Given the description of an element on the screen output the (x, y) to click on. 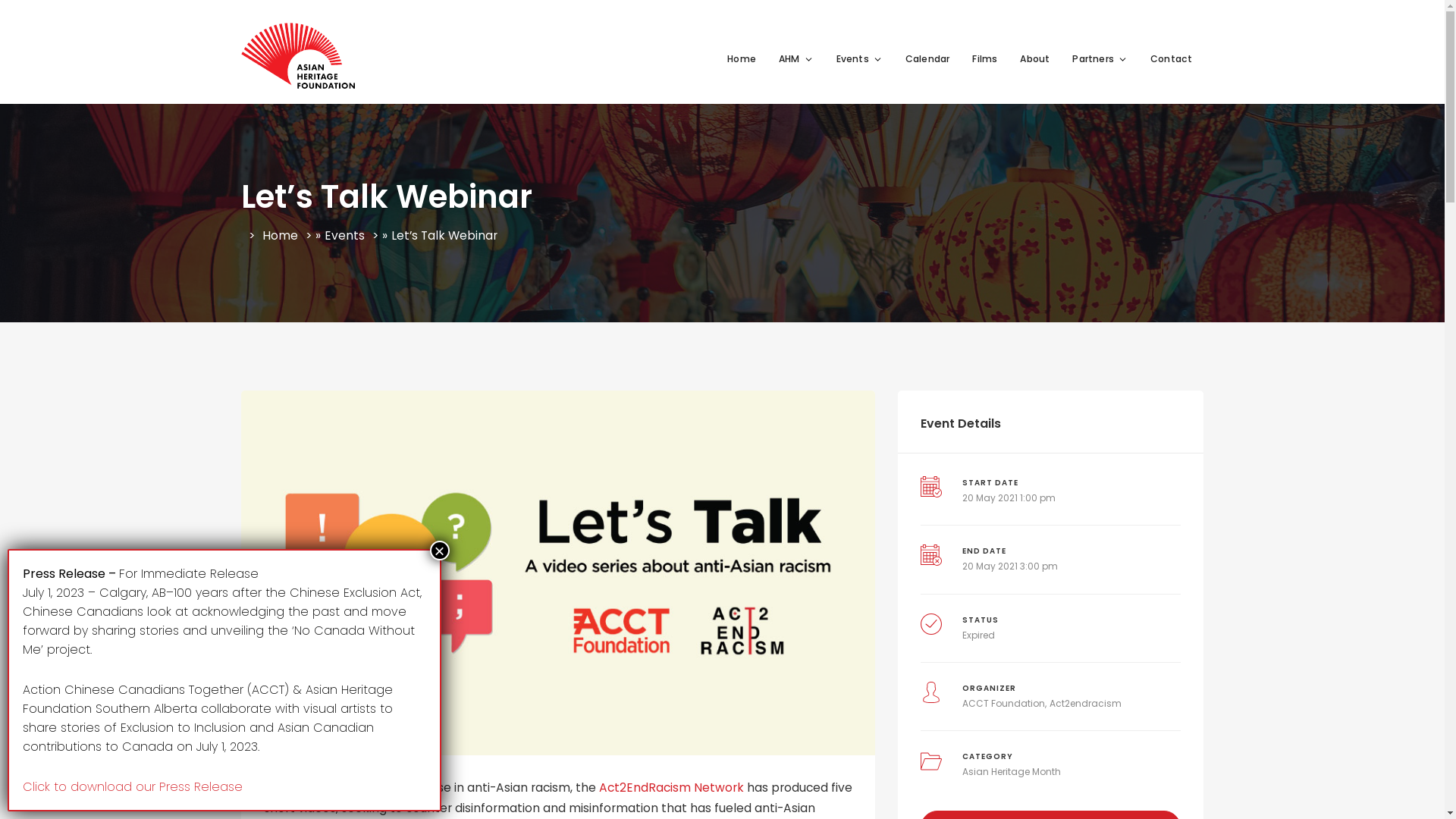
Contact Element type: text (1171, 59)
Home Element type: text (741, 59)
ACCT Foundation Element type: text (1003, 702)
Act2EndRacism Network Element type: text (671, 787)
Events Element type: text (344, 235)
AHM Element type: text (796, 59)
Click to download our Press Release Element type: text (132, 786)
Films Element type: text (984, 59)
Partners Element type: text (1099, 59)
About Element type: text (1034, 59)
Act2endracism Element type: text (1085, 702)
Home Element type: text (280, 235)
Asian Heritage Month Element type: text (1011, 771)
Events Element type: text (859, 59)
Calendar Element type: text (927, 59)
